Given the description of an element on the screen output the (x, y) to click on. 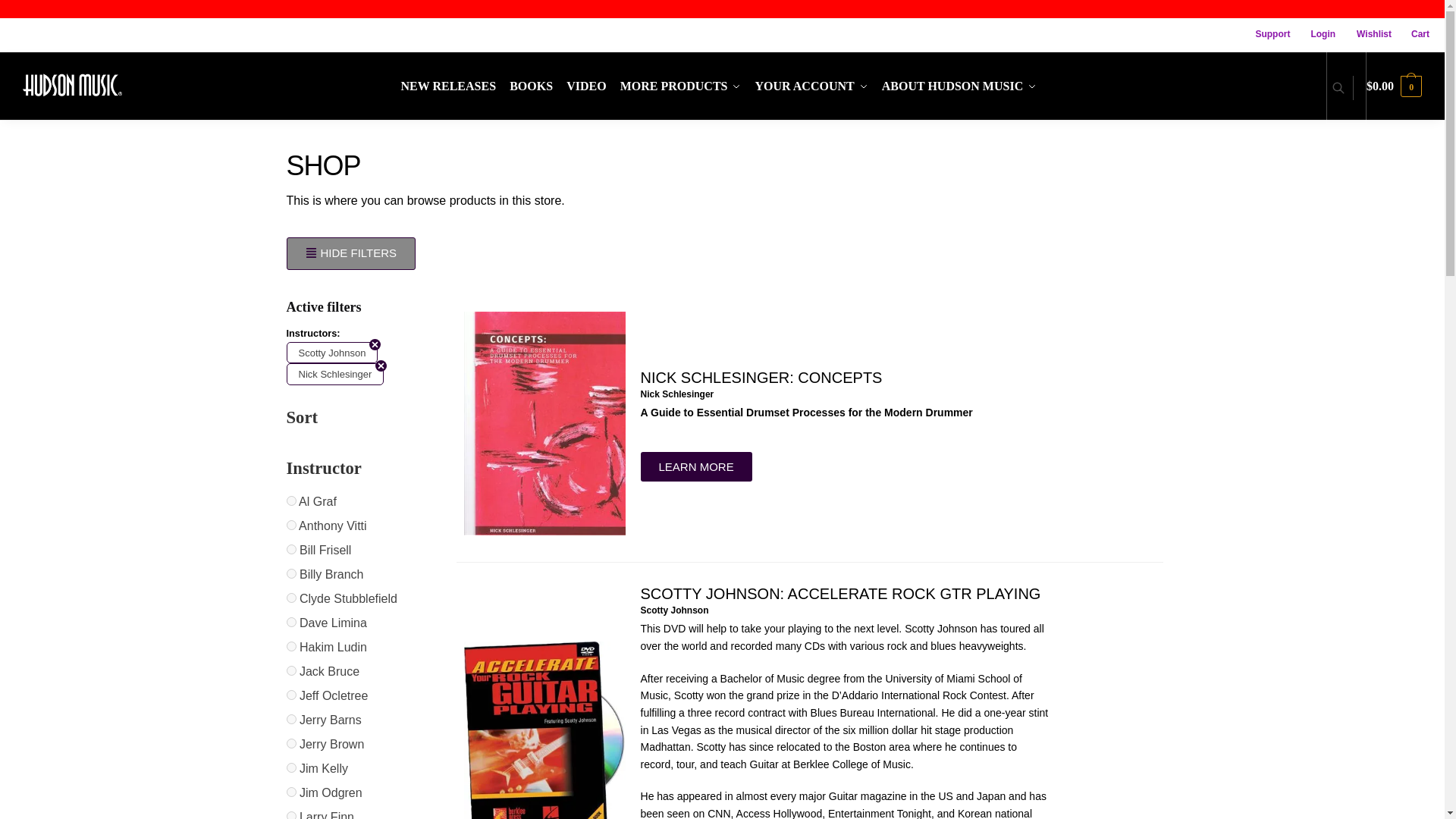
MORE PRODUCTS (680, 86)
hakim-ludin (291, 646)
clyde-stubblefield (291, 597)
billy-branch (291, 573)
Cart (1412, 34)
NEW RELEASES (451, 86)
jim-kelly (291, 767)
anthony-vitti (291, 524)
jerry-brown (291, 743)
al-graf (291, 501)
jim-odgren (291, 791)
Support (1265, 34)
View your shopping cart (1394, 85)
jerry-barns (291, 718)
YOUR ACCOUNT (811, 86)
